Given the description of an element on the screen output the (x, y) to click on. 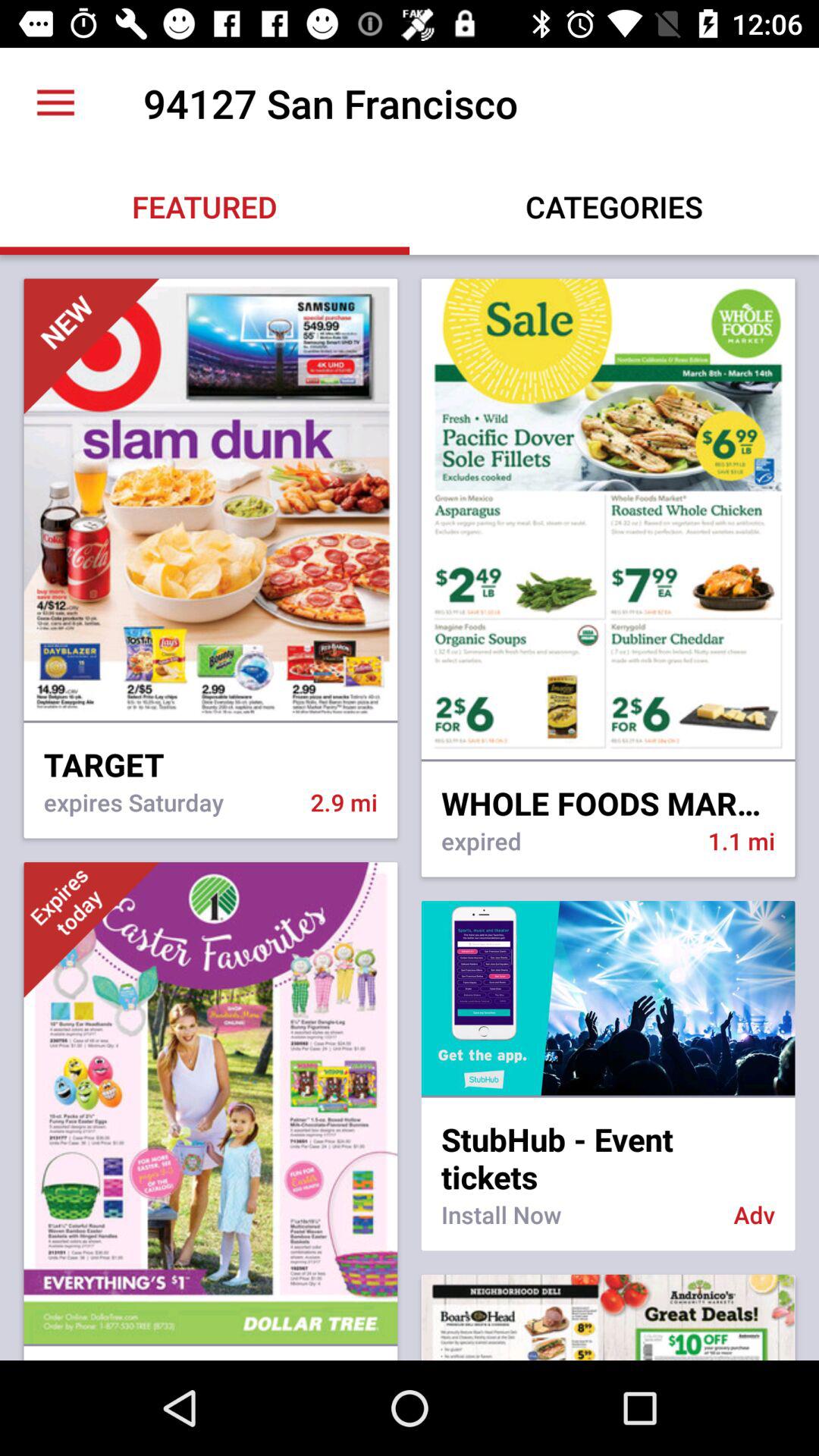
press icon next to 94127 san francisco (55, 103)
